Given the description of an element on the screen output the (x, y) to click on. 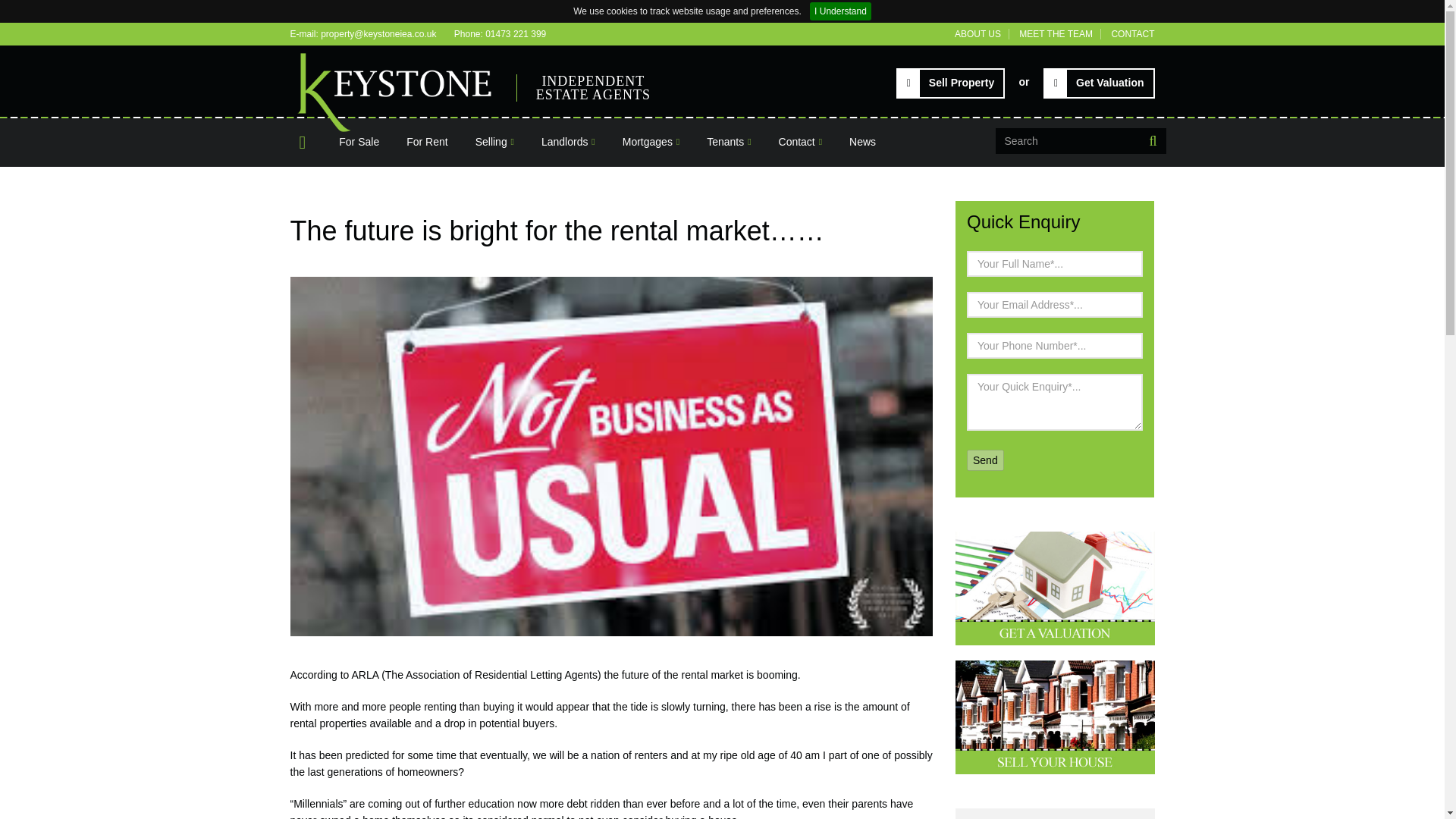
Selling (493, 141)
Get Valuation (1098, 82)
Landlords (568, 141)
For Sale (359, 141)
Tenants (728, 141)
I Understand (839, 11)
Selling (493, 141)
Mortgages (650, 141)
For Rent (427, 141)
CONTACT (1132, 33)
For Sale (359, 141)
MEET THE TEAM (1056, 33)
Mortgages (650, 141)
ABOUT US (978, 33)
